Given the description of an element on the screen output the (x, y) to click on. 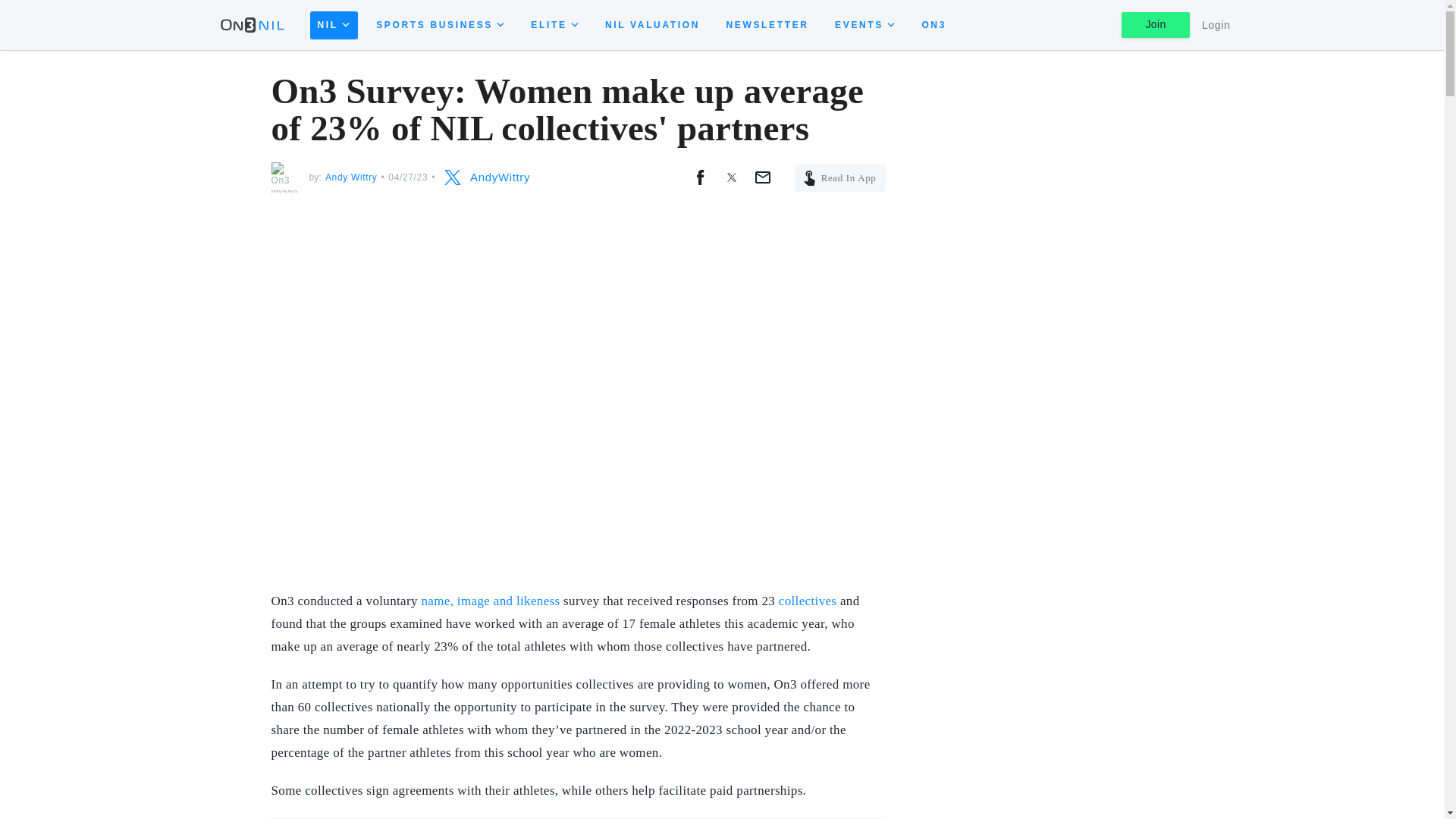
collectives (807, 600)
AndyWittry (484, 176)
ELITE (554, 24)
NEWSLETTER (767, 24)
SPORTS BUSINESS (440, 24)
Join (1155, 24)
Login (1216, 24)
NIL (332, 24)
ON3 (933, 24)
On3 Home (259, 24)
